Given the description of an element on the screen output the (x, y) to click on. 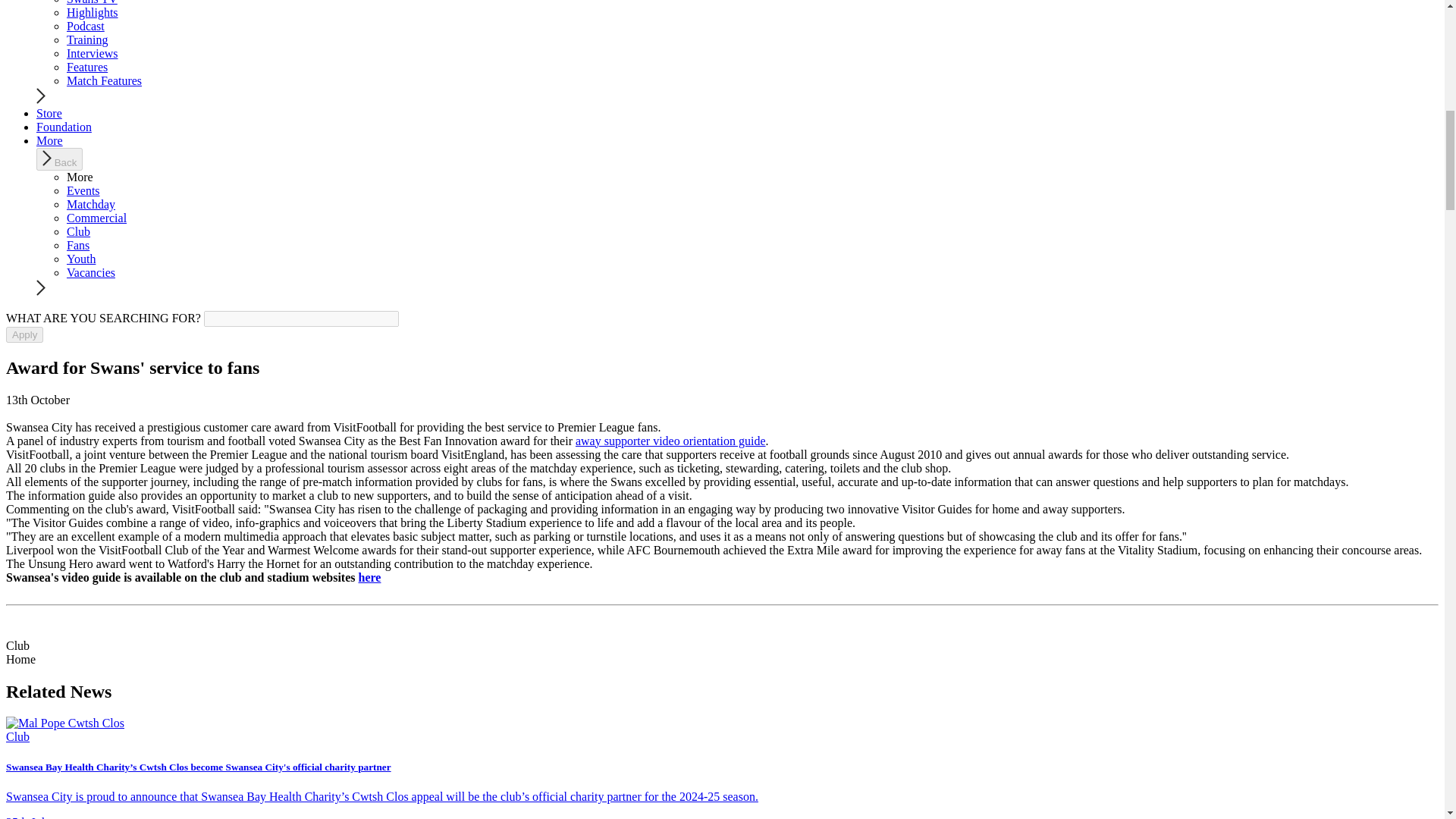
Highlights (91, 11)
Swans TV (91, 2)
Apply (24, 334)
